Given the description of an element on the screen output the (x, y) to click on. 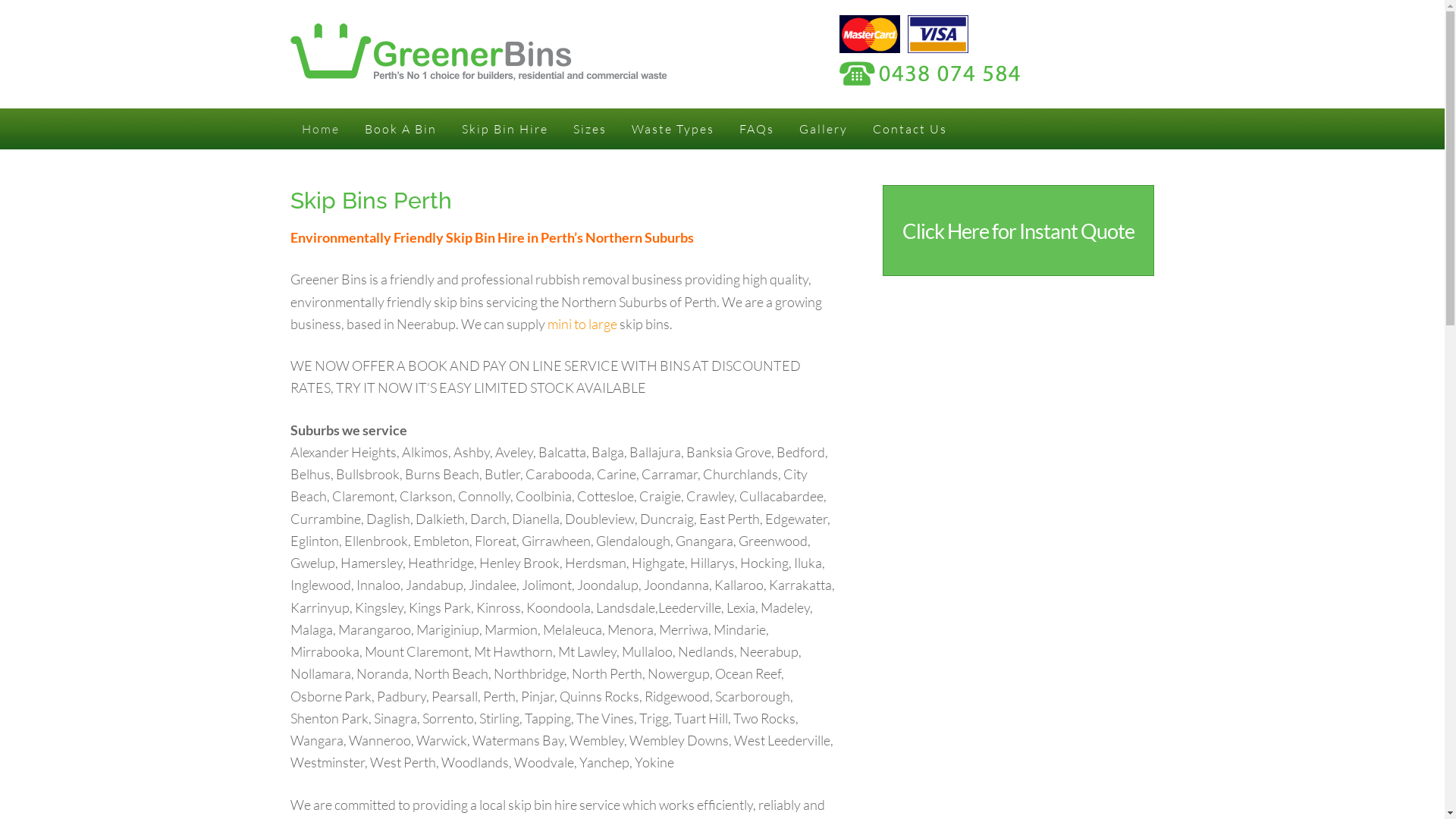
Skip Bin Hire Element type: text (504, 128)
Greener Bins Element type: hover (477, 70)
Home Element type: text (319, 128)
mini to large Element type: text (582, 323)
Sizes Element type: text (589, 128)
Click Here for Instant Quote Element type: text (1018, 230)
FAQs Element type: text (756, 128)
Gallery Element type: text (822, 128)
Contact Us Element type: text (909, 128)
Book A Bin Element type: text (400, 128)
Waste Types Element type: text (672, 128)
Greener Bins Element type: hover (477, 51)
